Given the description of an element on the screen output the (x, y) to click on. 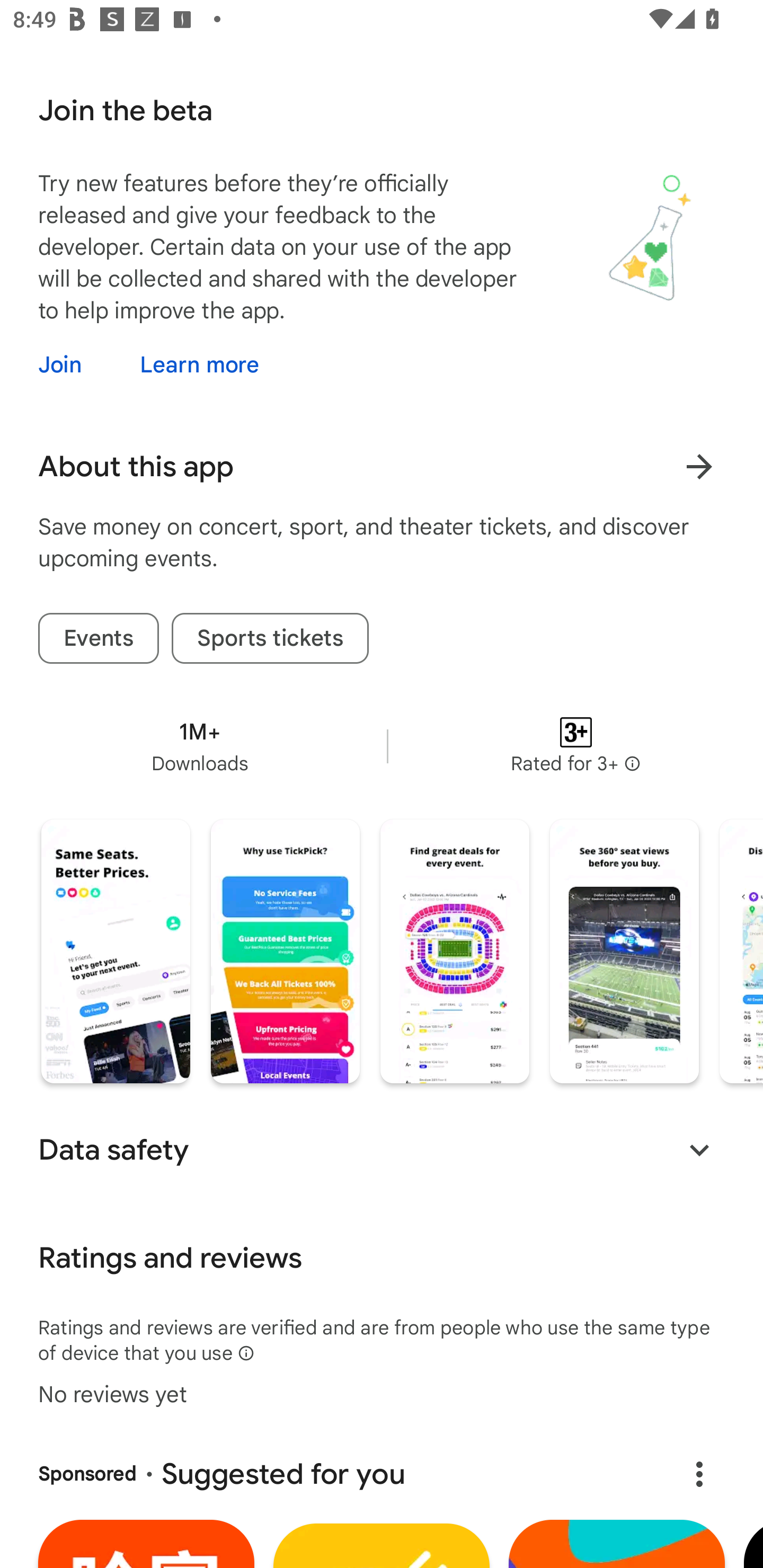
Join (76, 364)
Learn more (199, 364)
About this app Learn more About this app (381, 466)
Learn more About this app (699, 466)
Events tag (98, 637)
Sports tickets tag (269, 637)
Content rating Rated for 3+ (575, 746)
Screenshot "1" of "8" (115, 951)
Screenshot "2" of "8" (285, 951)
Screenshot "3" of "8" (454, 951)
Screenshot "4" of "8" (624, 951)
Data safety Expand (381, 1149)
Expand (699, 1149)
About this ad (699, 1474)
